Given the description of an element on the screen output the (x, y) to click on. 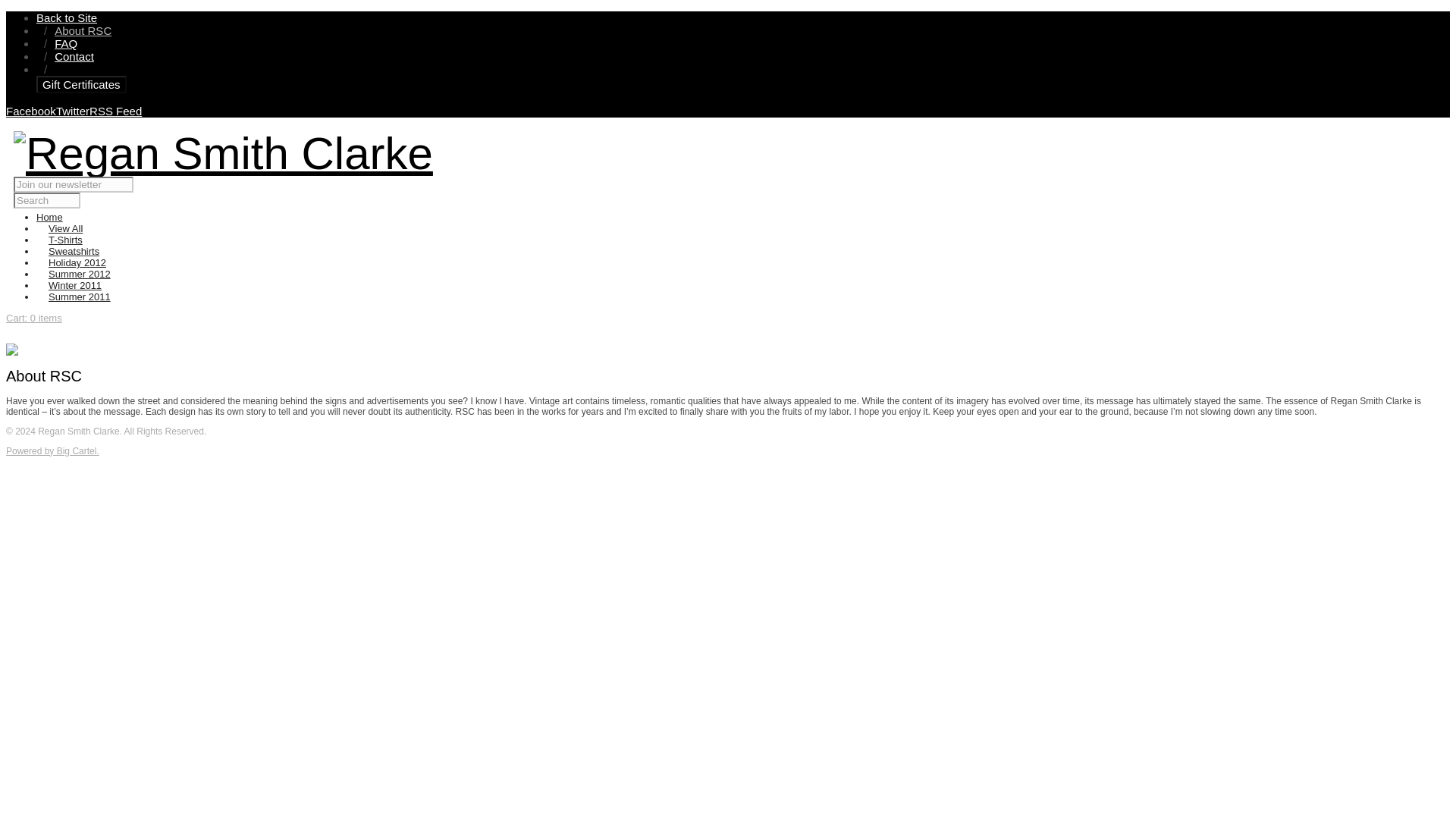
Contact (74, 56)
Follow Regan Smith Clarke on Twitter (72, 110)
Summer 2011 (79, 296)
FAQ (66, 42)
Winter 2011 (74, 285)
About RSC (83, 30)
RSS Feed (114, 110)
Subscribe to the Regan Smith Clarke News Feed (114, 110)
Search (46, 200)
Sweatshirts (73, 251)
Join our newsletter (73, 184)
Cart: 0 items (33, 317)
Home (49, 216)
Gift Certificates (81, 84)
Twitter (72, 110)
